Given the description of an element on the screen output the (x, y) to click on. 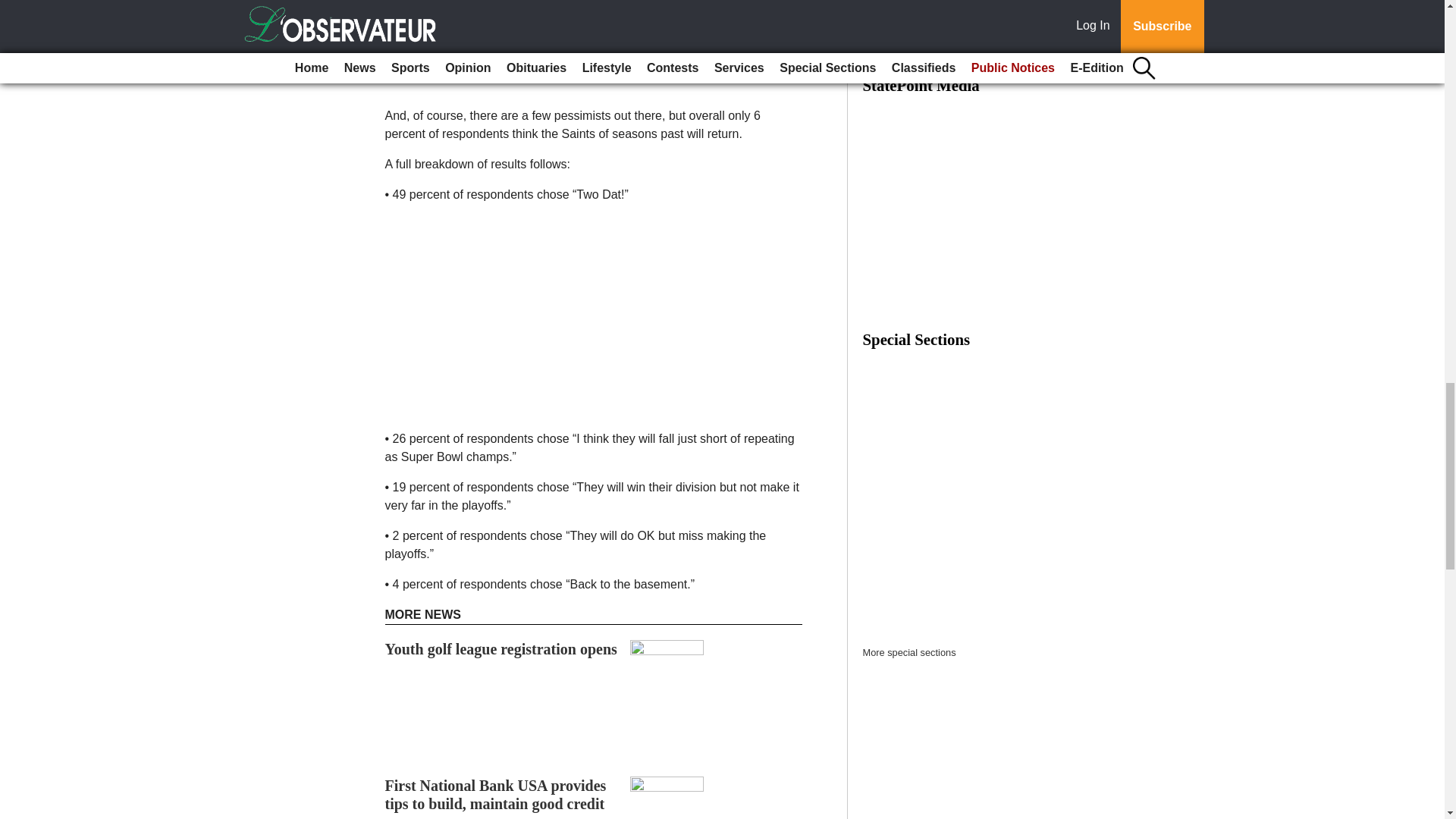
Youth golf league registration opens (501, 648)
Youth golf league registration opens (501, 648)
